Given the description of an element on the screen output the (x, y) to click on. 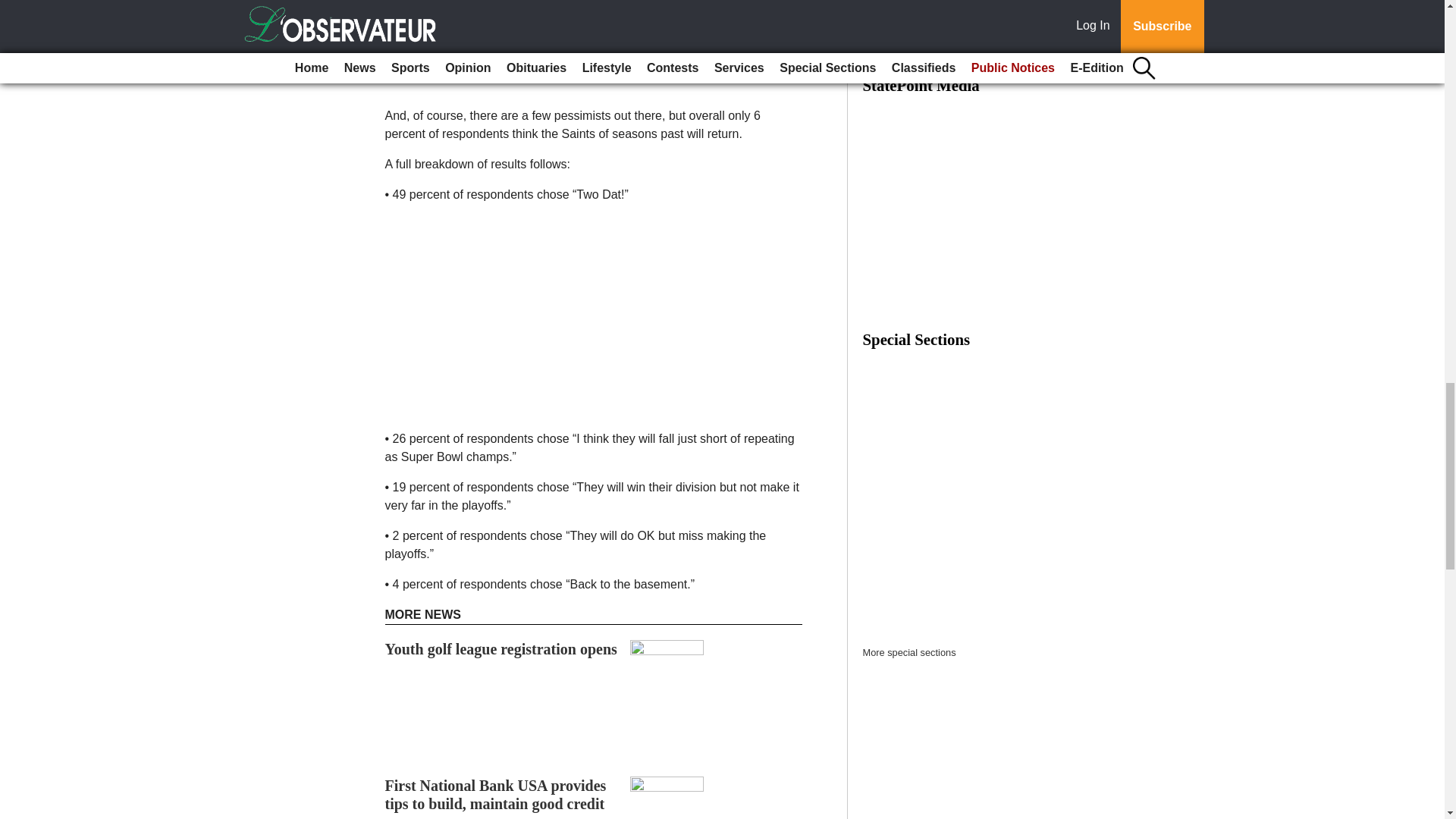
Youth golf league registration opens (501, 648)
Youth golf league registration opens (501, 648)
